Given the description of an element on the screen output the (x, y) to click on. 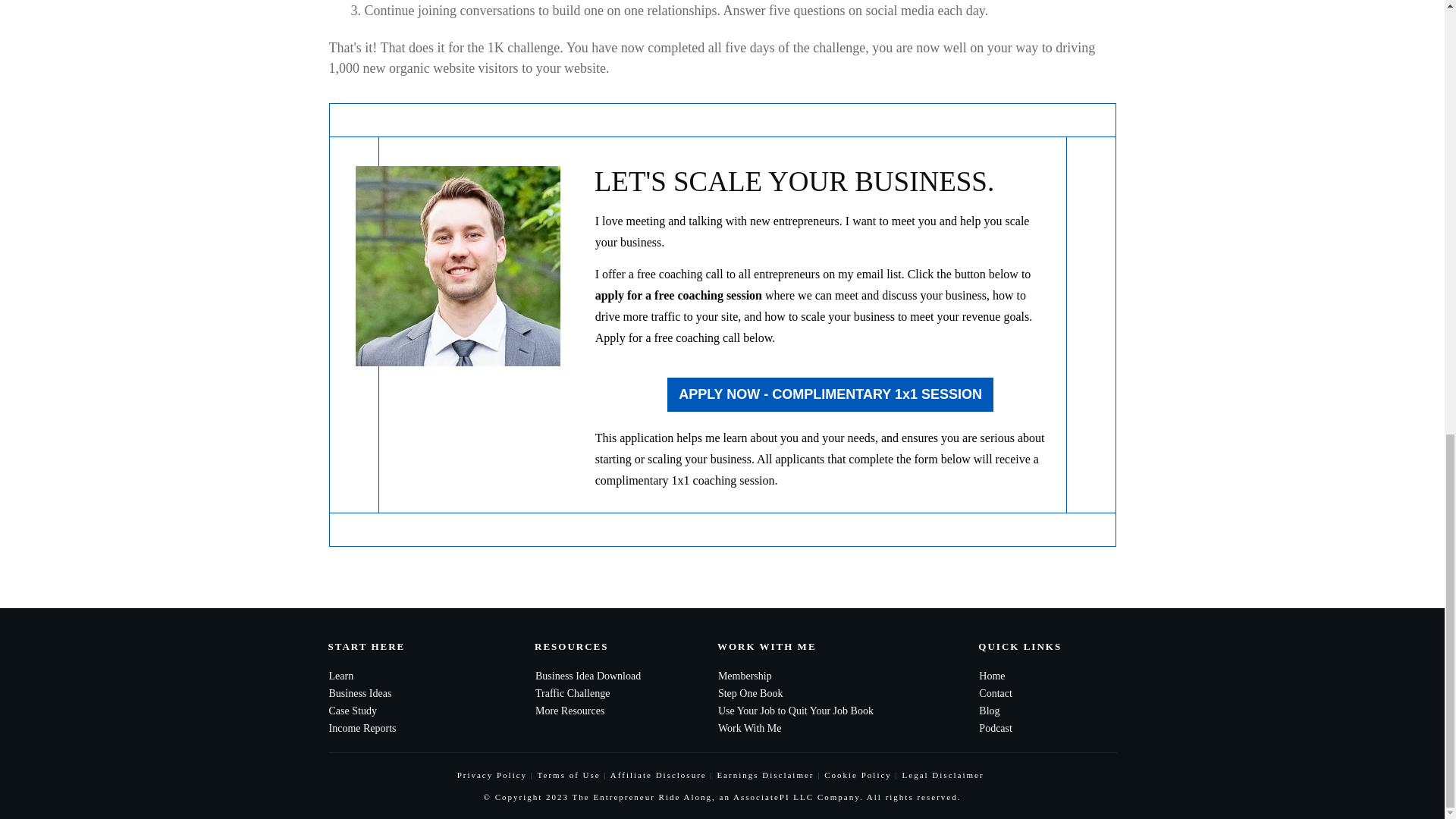
Learn (341, 675)
Step One Book (750, 693)
Cookie Policy (857, 774)
Business Idea Download (587, 675)
Home (991, 675)
Privacy Policy (492, 774)
Work With Me (749, 727)
Contact (994, 693)
More Resources (569, 710)
Case Study (353, 710)
Blog (988, 710)
APPLY NOW - COMPLIMENTARY 1x1 SESSION (829, 394)
Traffic Challenge (572, 693)
Business Ideas (360, 693)
Use Your Job to Quit Your Job Book (795, 710)
